Given the description of an element on the screen output the (x, y) to click on. 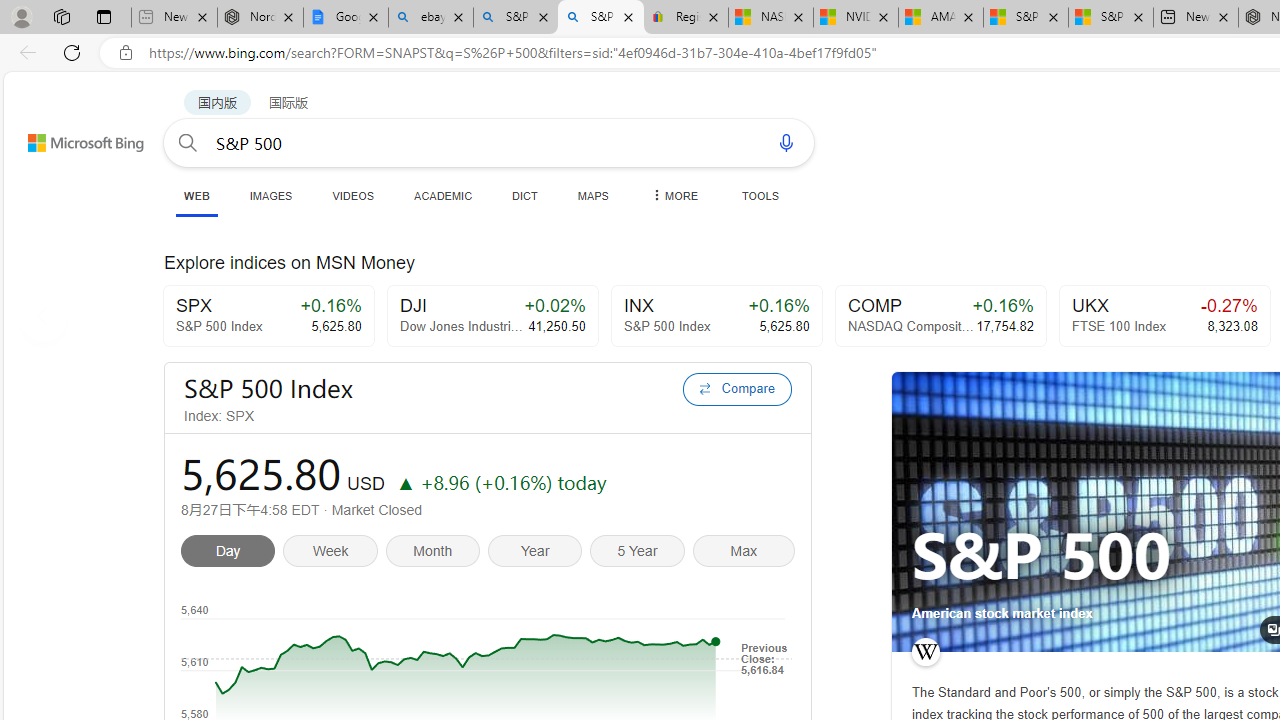
Month (436, 553)
Week (334, 553)
